Given the description of an element on the screen output the (x, y) to click on. 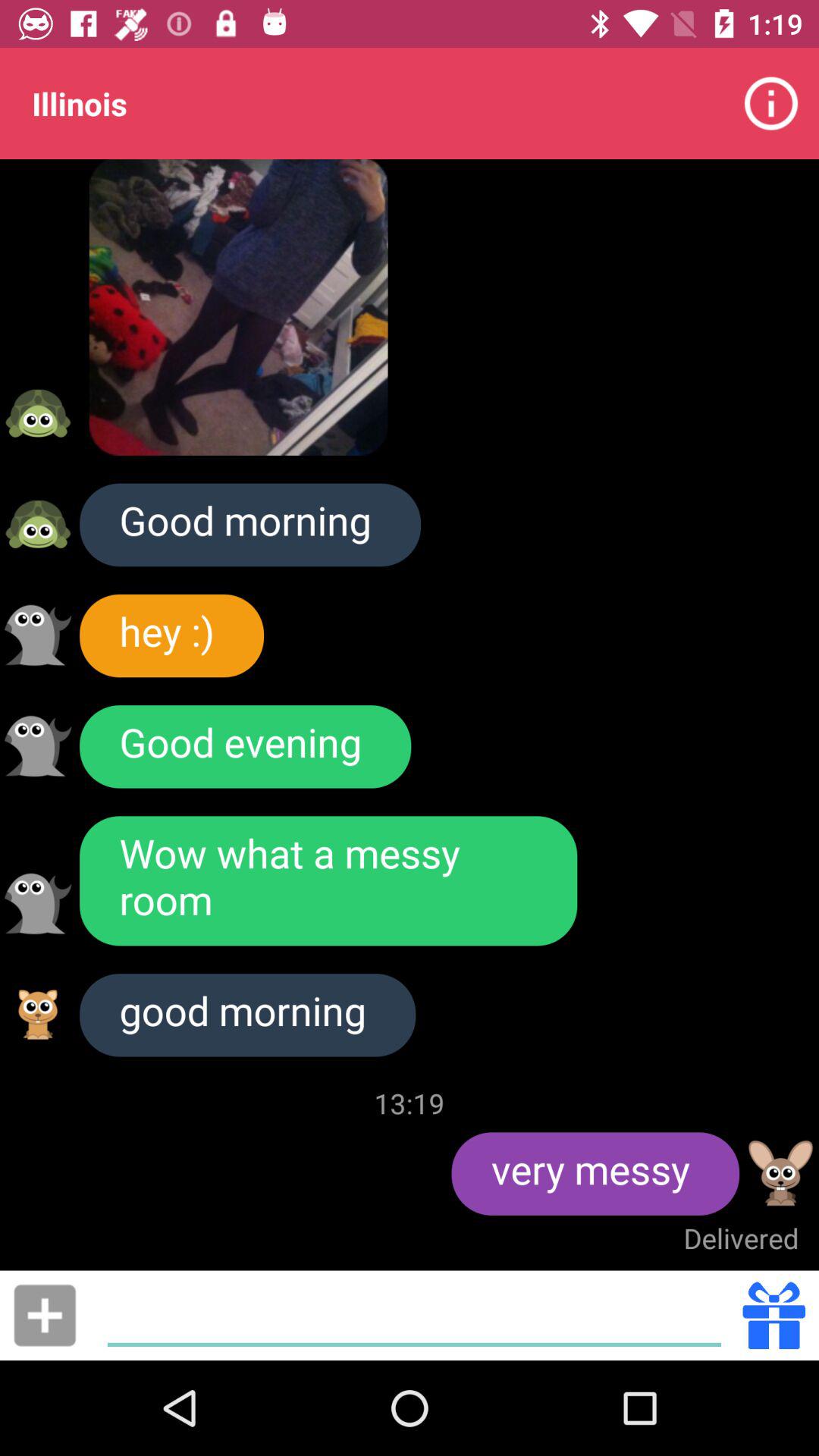
launch icon below 13:19 icon (595, 1173)
